Given the description of an element on the screen output the (x, y) to click on. 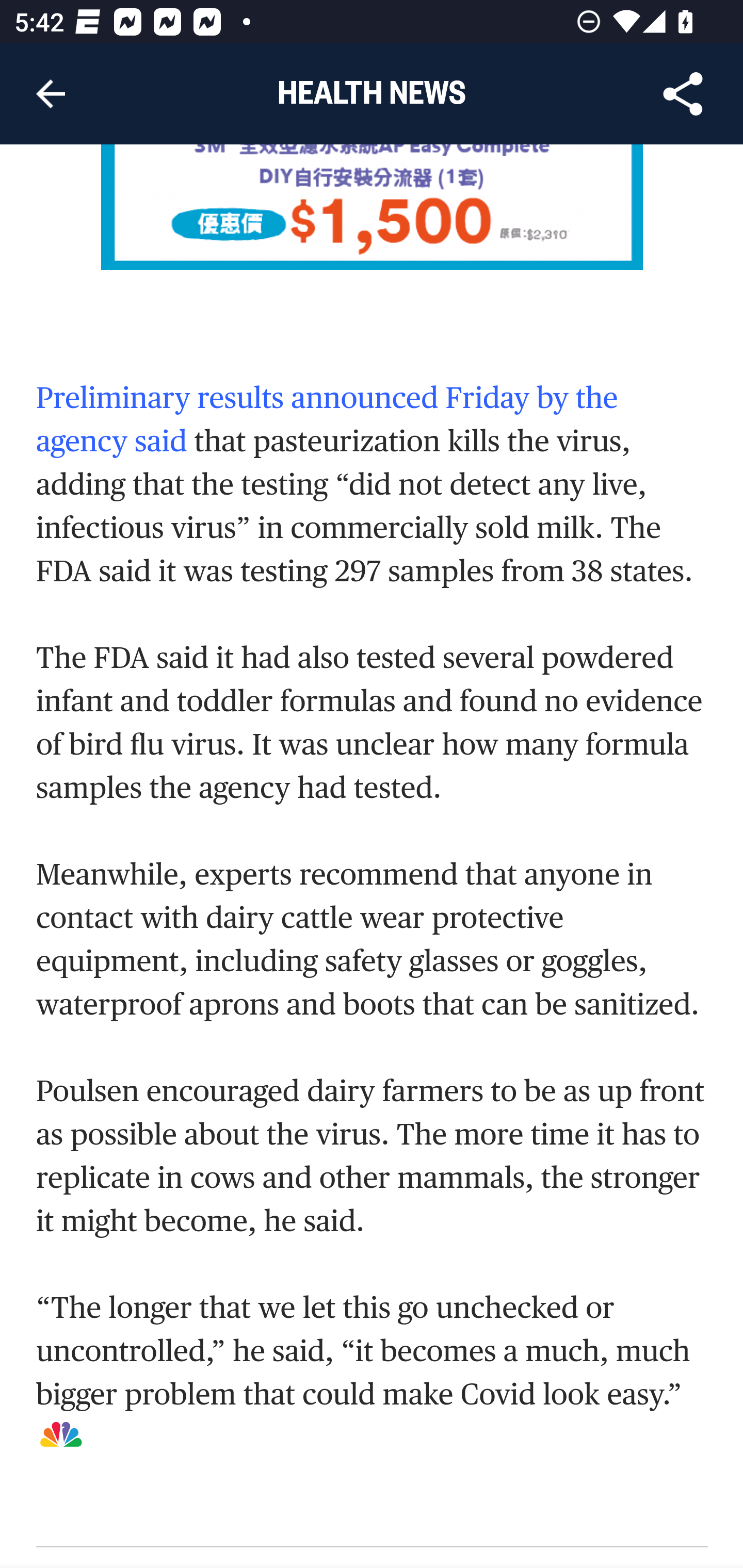
Navigate up (50, 93)
Share Article, button (683, 94)
